Given the description of an element on the screen output the (x, y) to click on. 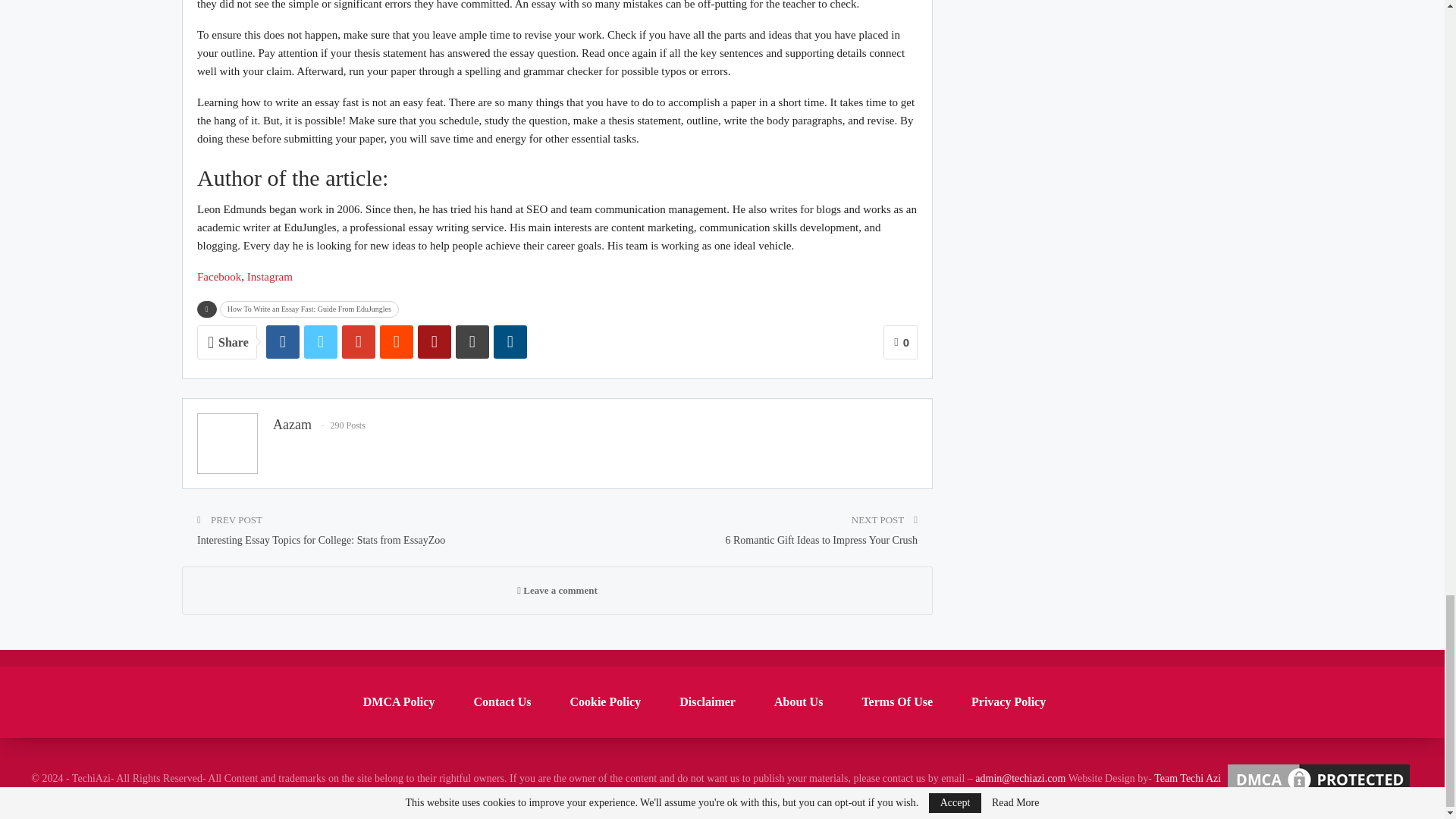
DMCA.com Protection Status (1318, 778)
